Given the description of an element on the screen output the (x, y) to click on. 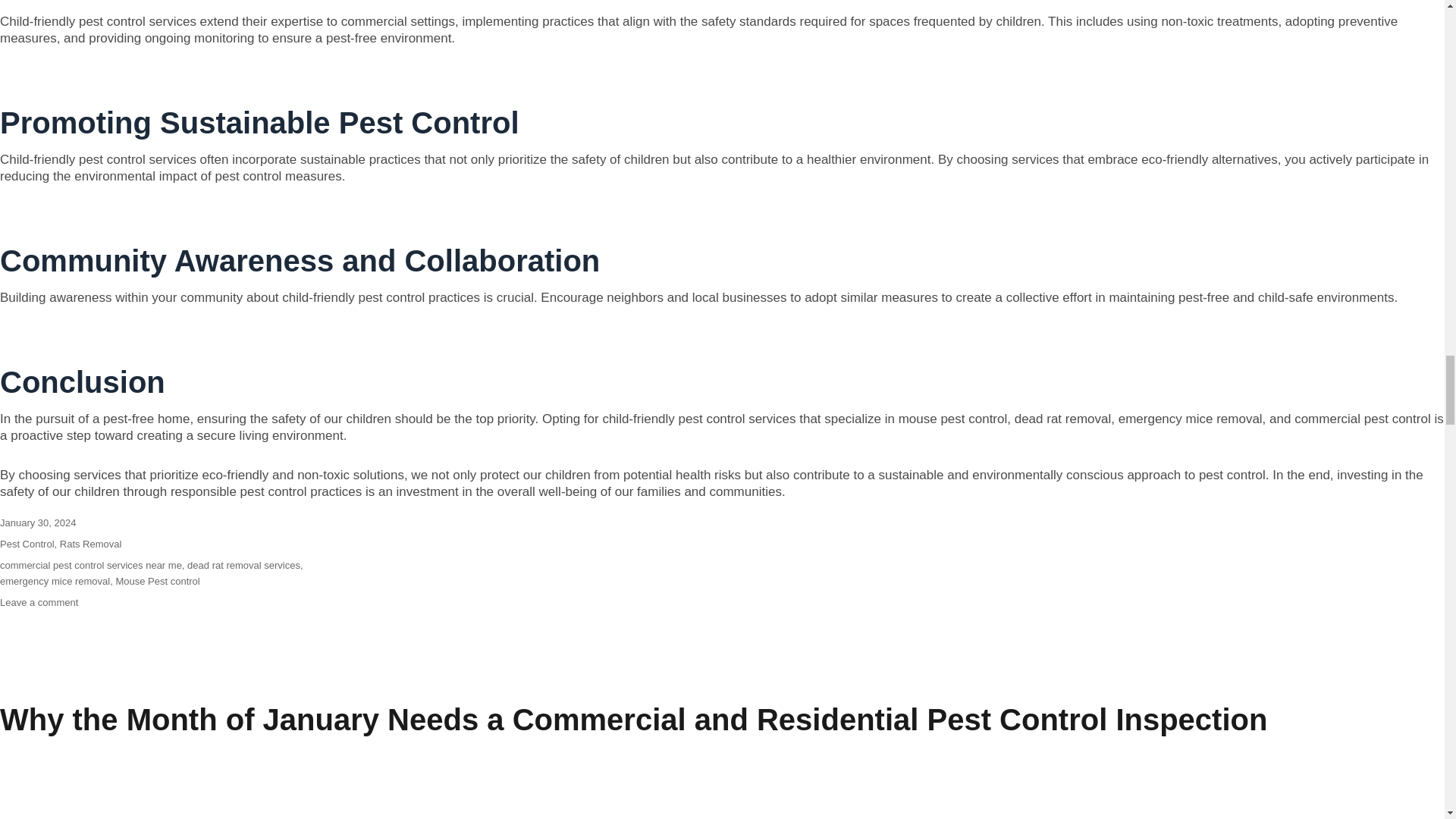
January 30, 2024 (37, 522)
Rats Removal (90, 543)
Pest Control (27, 543)
